Given the description of an element on the screen output the (x, y) to click on. 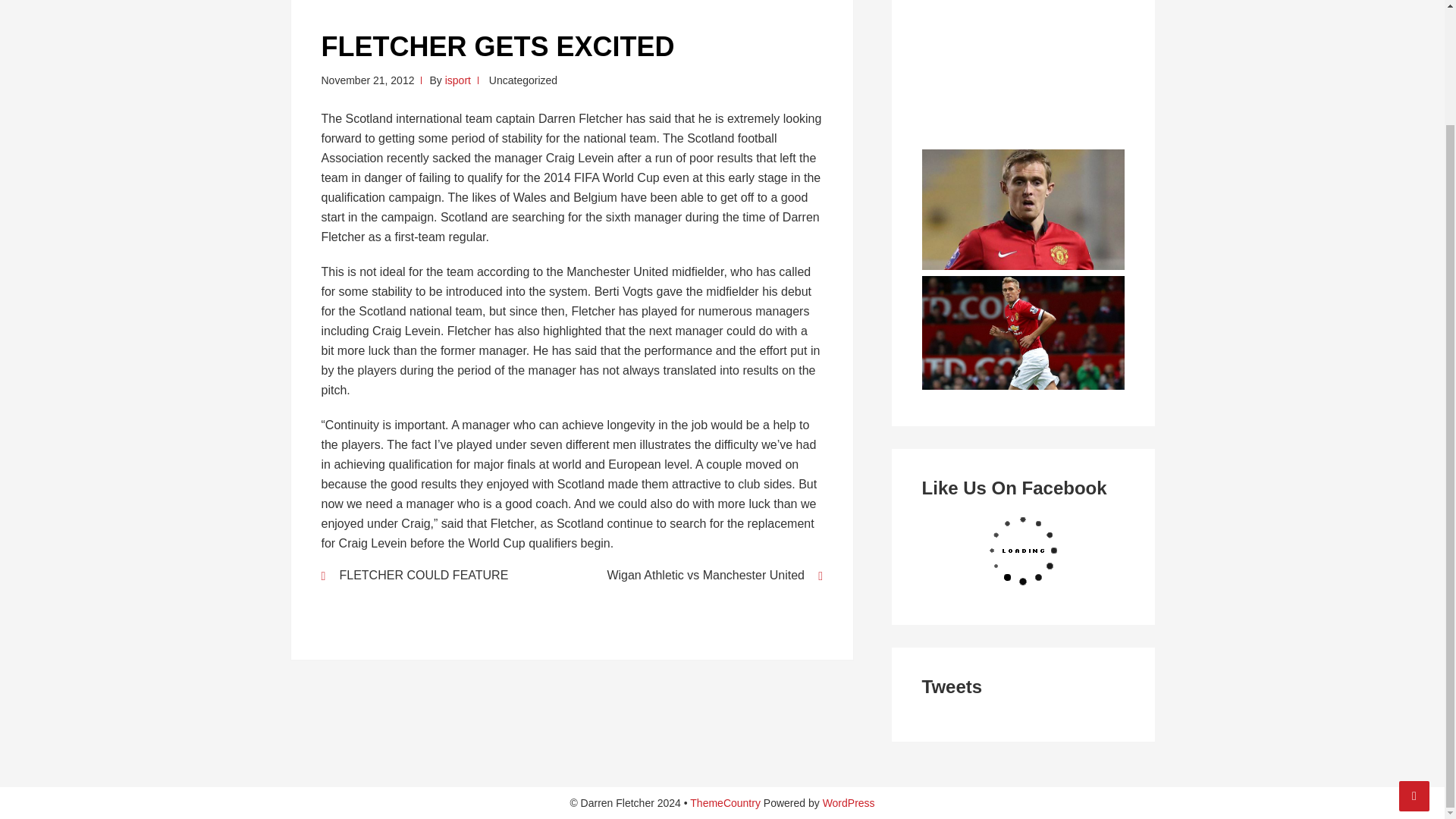
View all posts by isport (457, 80)
WordPress (848, 802)
Wigan Athletic vs Manchester United (707, 575)
BasePress - The best free WordPress blog theme for WordPress (725, 802)
ThemeCountry (725, 802)
isport (457, 80)
FLETCHER COULD FEATURE (436, 575)
